Given the description of an element on the screen output the (x, y) to click on. 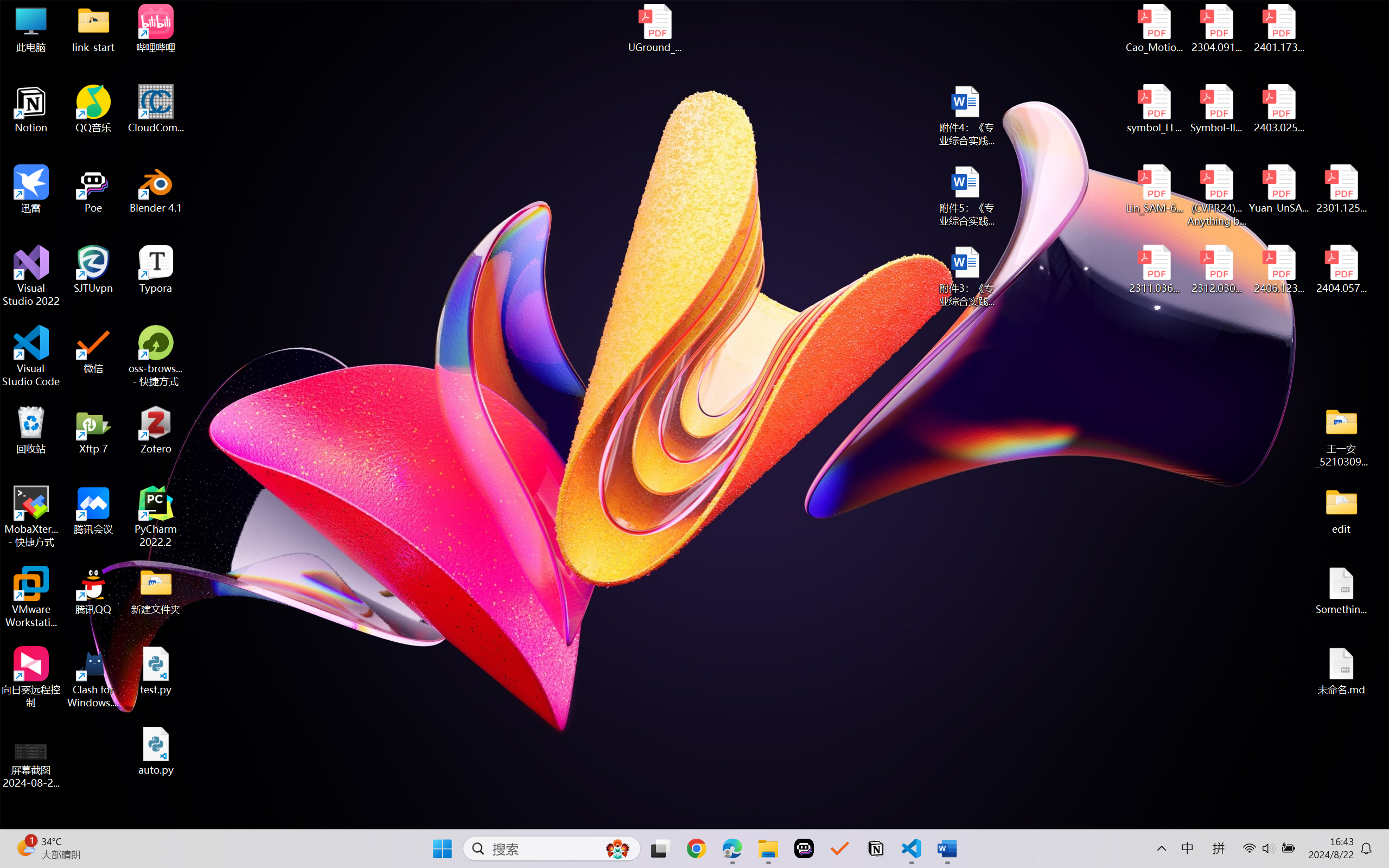
Something.md (1340, 591)
2403.02502v1.pdf (1278, 109)
SJTUvpn (93, 269)
Google Chrome (696, 848)
2301.12597v3.pdf (1340, 189)
2404.05719v1.pdf (1340, 269)
auto.py (156, 751)
